Given the description of an element on the screen output the (x, y) to click on. 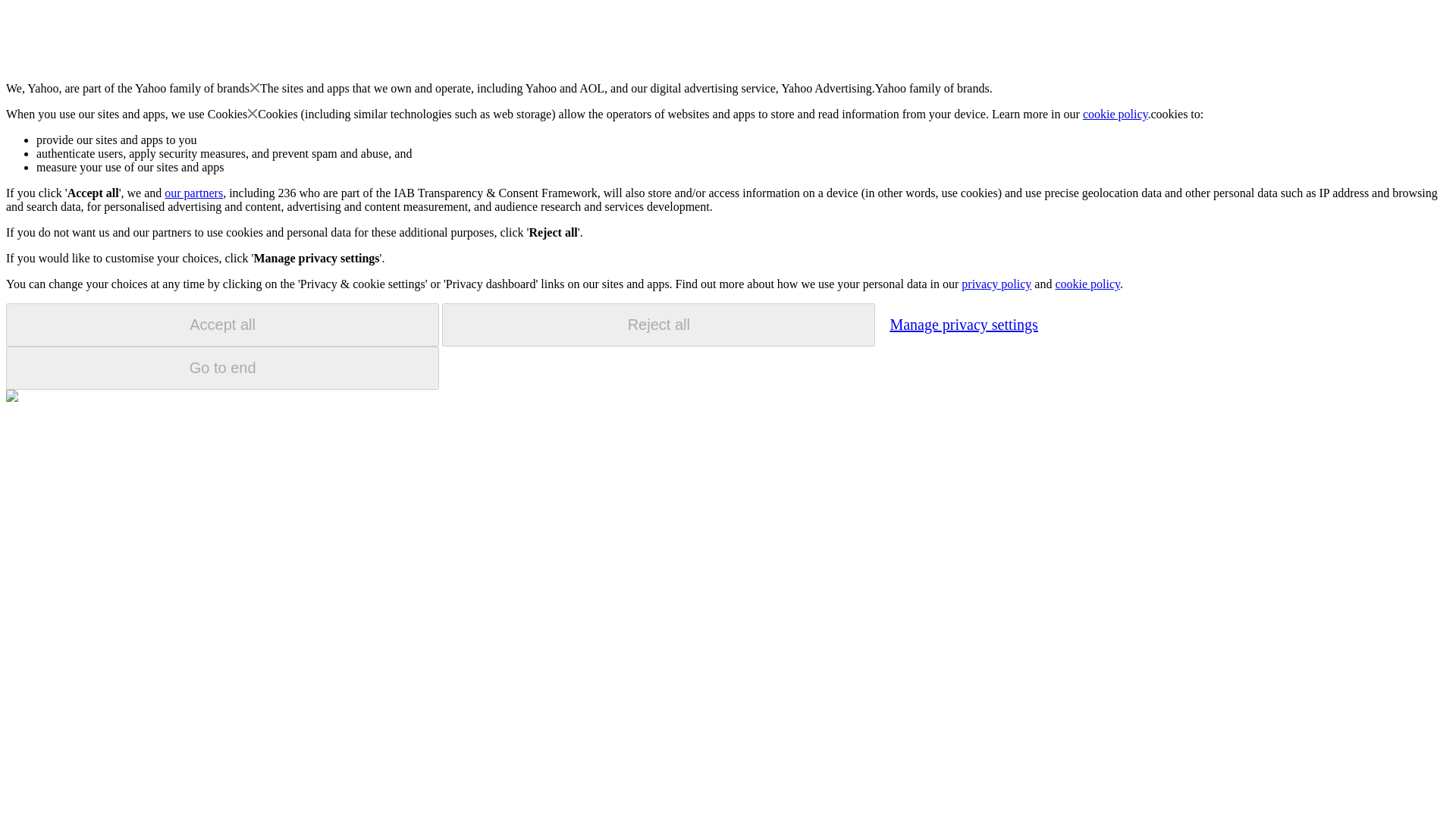
Manage privacy settings (963, 323)
Go to end (222, 367)
privacy policy (995, 283)
Reject all (658, 324)
cookie policy (1086, 283)
our partners (193, 192)
cookie policy (1115, 113)
Accept all (222, 324)
